Given the description of an element on the screen output the (x, y) to click on. 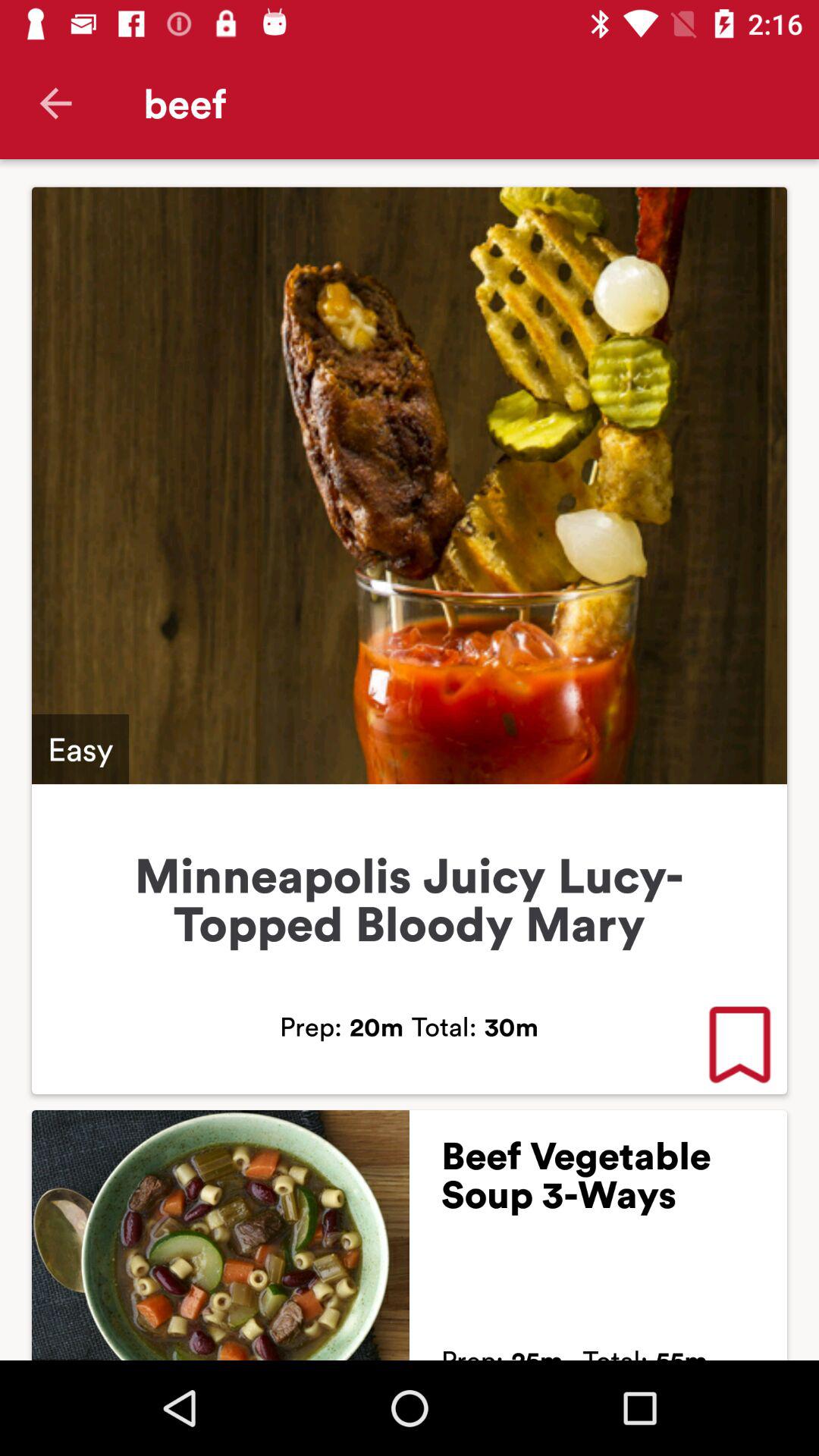
select icon next to the beef icon (55, 103)
